Given the description of an element on the screen output the (x, y) to click on. 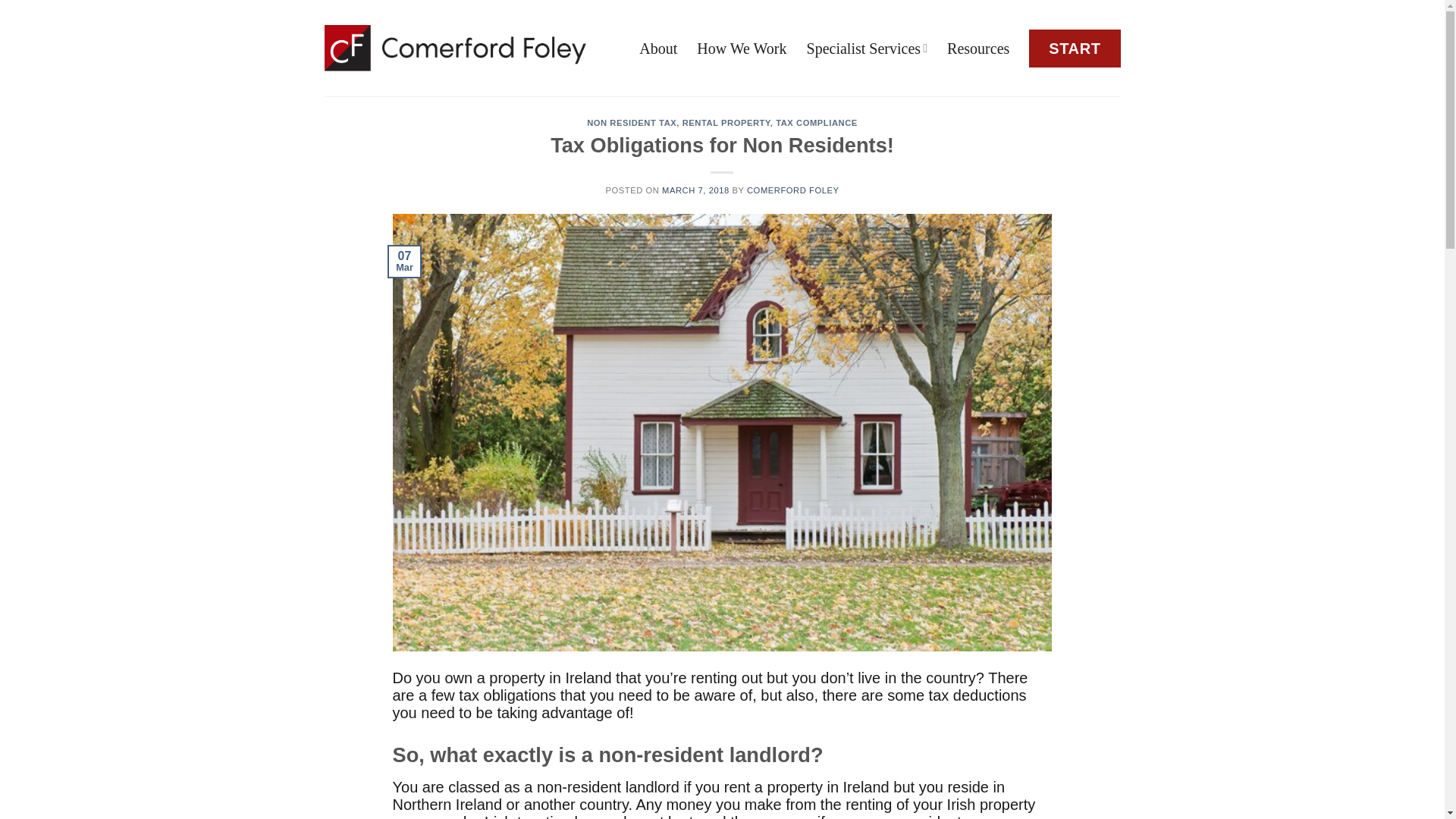
Comerford Foley (455, 47)
MARCH 7, 2018 (695, 189)
START (1074, 47)
Resources (978, 48)
About (658, 48)
RENTAL PROPERTY (726, 122)
TAX COMPLIANCE (816, 122)
COMERFORD FOLEY (793, 189)
Specialist Services (867, 48)
NON RESIDENT TAX (631, 122)
How We Work (741, 48)
